Given the description of an element on the screen output the (x, y) to click on. 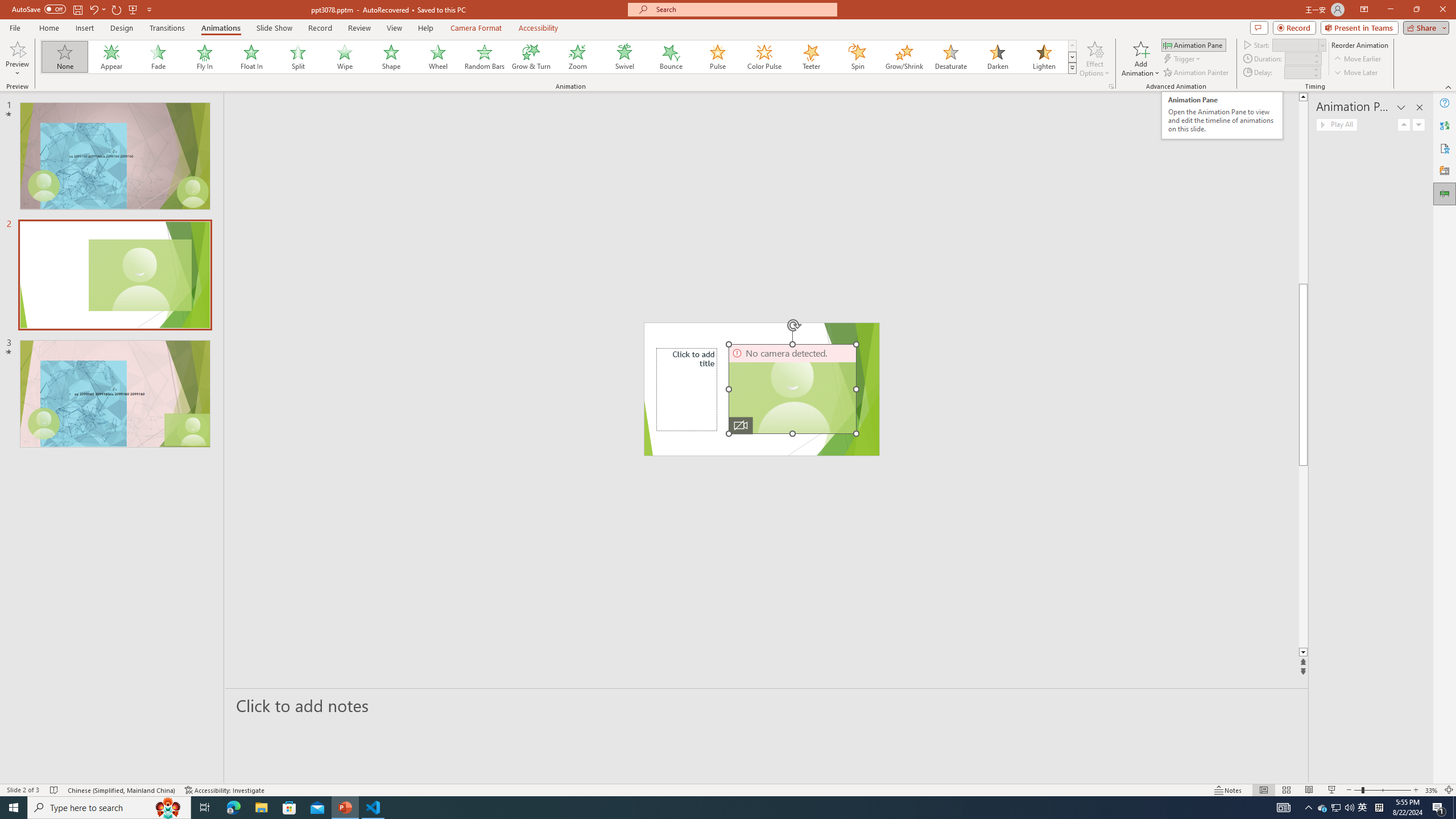
Bounce (670, 56)
Move Earlier (1357, 58)
